Given the description of an element on the screen output the (x, y) to click on. 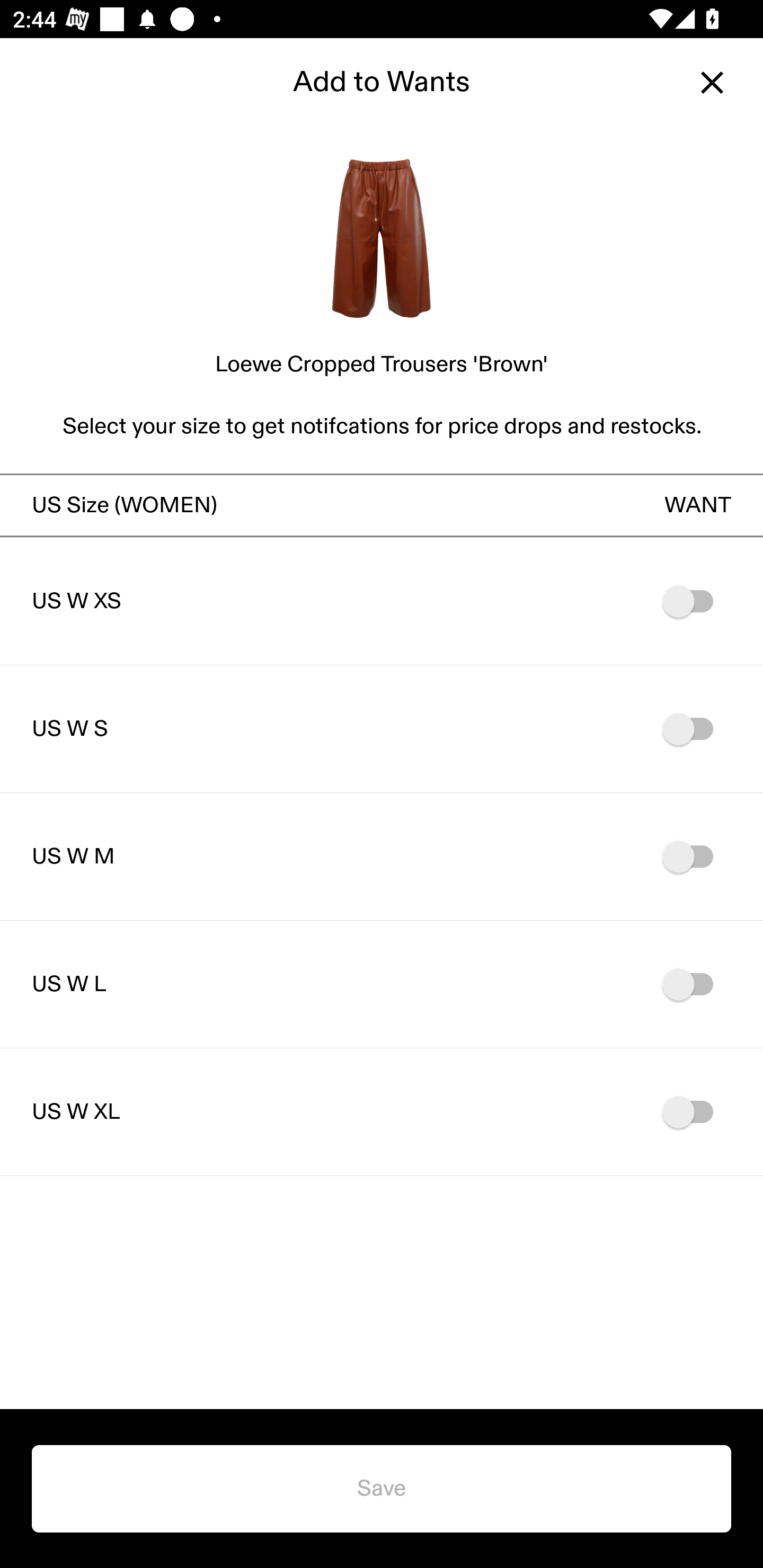
Save (381, 1488)
